Given the description of an element on the screen output the (x, y) to click on. 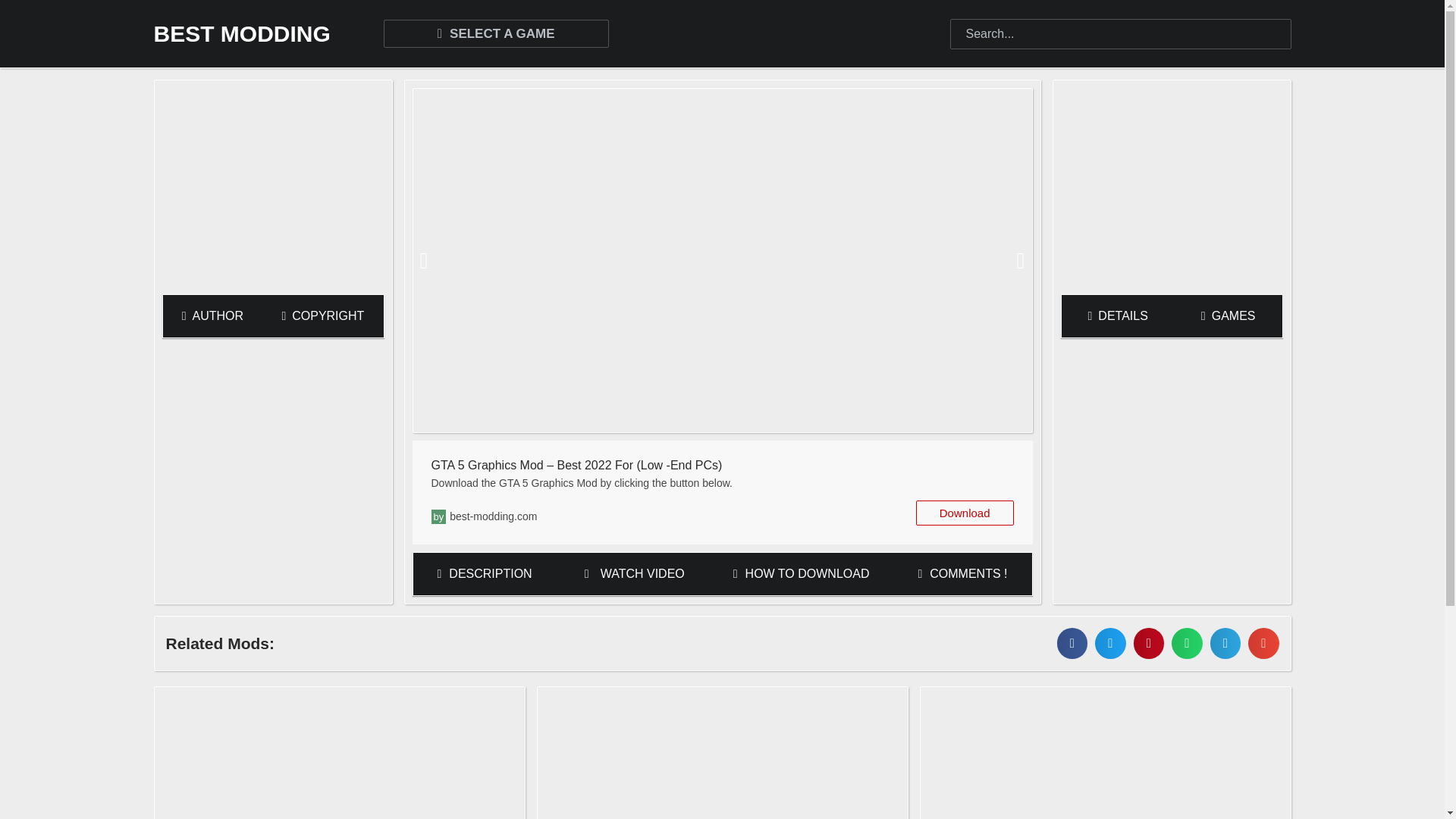
Download (964, 512)
BEST MODDING (241, 33)
SELECT A GAME (496, 33)
